Given the description of an element on the screen output the (x, y) to click on. 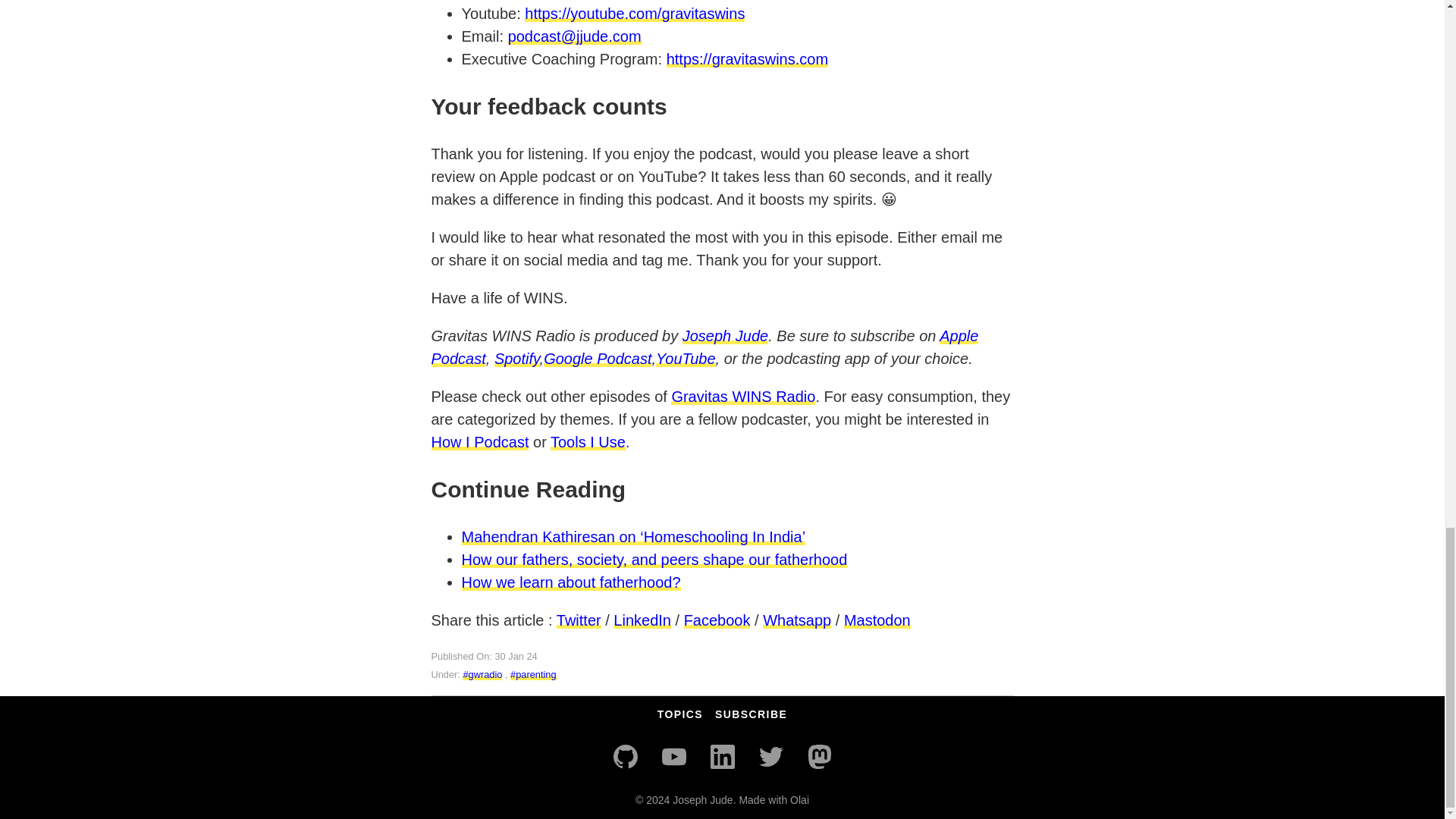
Apple Podcast (704, 346)
How I Podcast (479, 442)
Facebook (717, 619)
SUBSCRIBE (750, 714)
LinkedIn (641, 619)
Spotify (517, 358)
Joseph Jude (725, 335)
Mastodon (818, 756)
How our fathers, society, and peers shape our fatherhood (654, 559)
Google Podcast (596, 358)
